Given the description of an element on the screen output the (x, y) to click on. 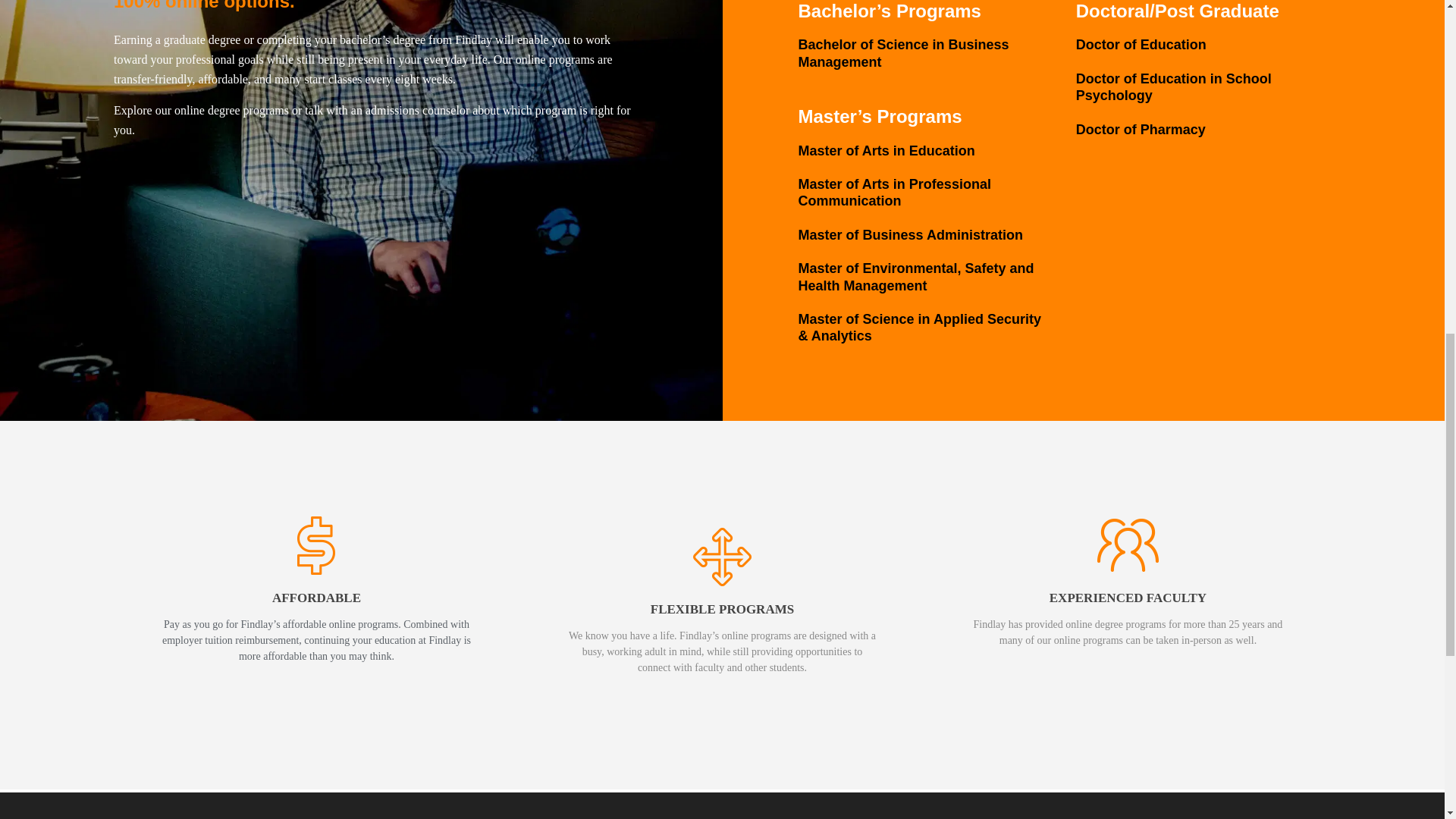
Doctor of Education (1141, 44)
Ed.D. in School Psychology (1140, 129)
Master of Arts in Professional Communication (893, 192)
Master of Environmental, Safety and Health Management (915, 276)
Flexible Icon (722, 556)
Ed.D. (1141, 44)
Master of Business Administration (909, 234)
Faculty Icon (1127, 545)
Ed.D. in School Psychology (1173, 87)
Doctor of Pharmacy (1140, 129)
Doctor of Education in School Psychology (1173, 87)
Master of Arts in Education (885, 150)
Affordable Icon (316, 545)
Education (885, 150)
Business Management (903, 52)
